Given the description of an element on the screen output the (x, y) to click on. 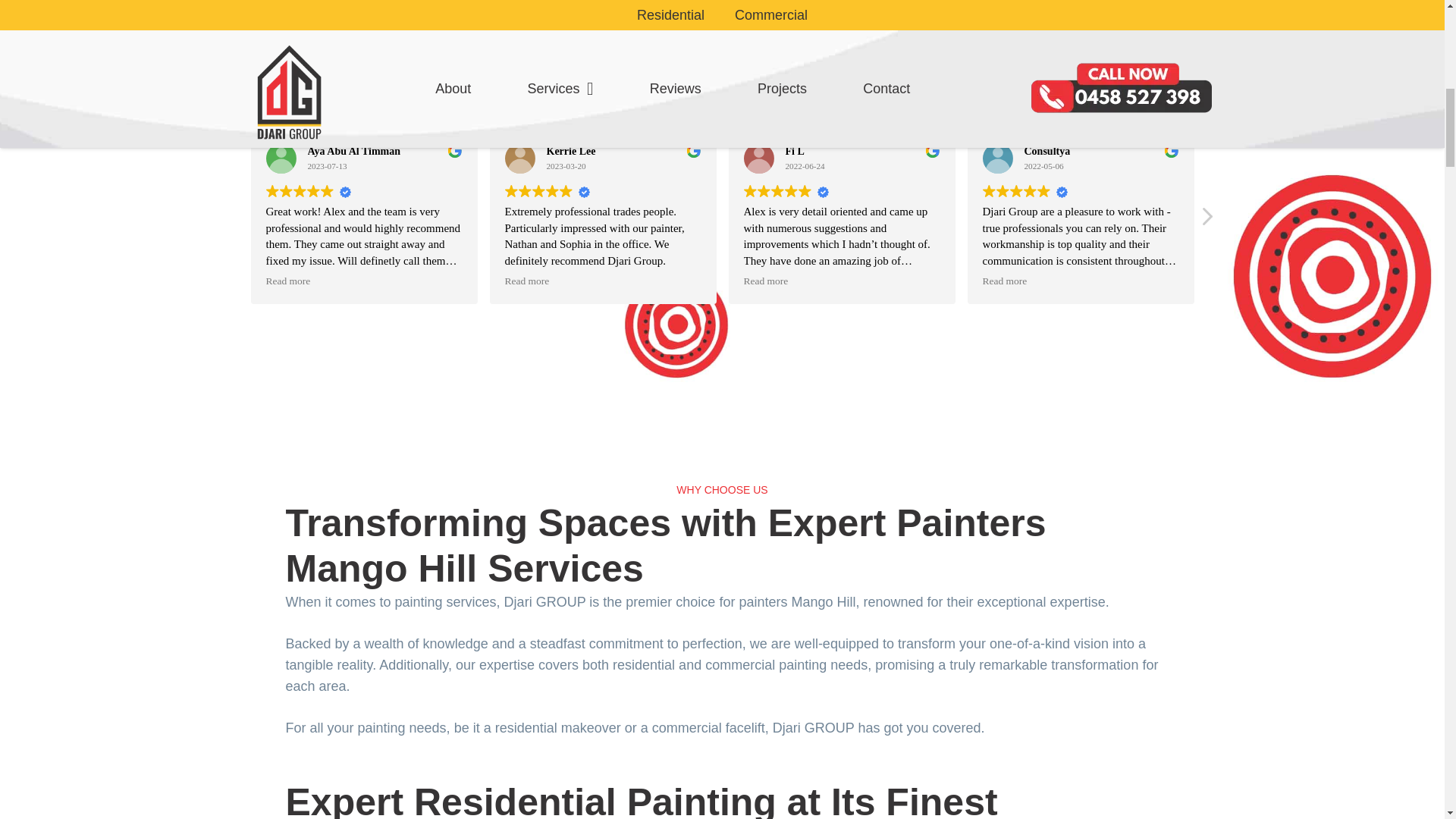
Back to top (1405, 26)
